Given the description of an element on the screen output the (x, y) to click on. 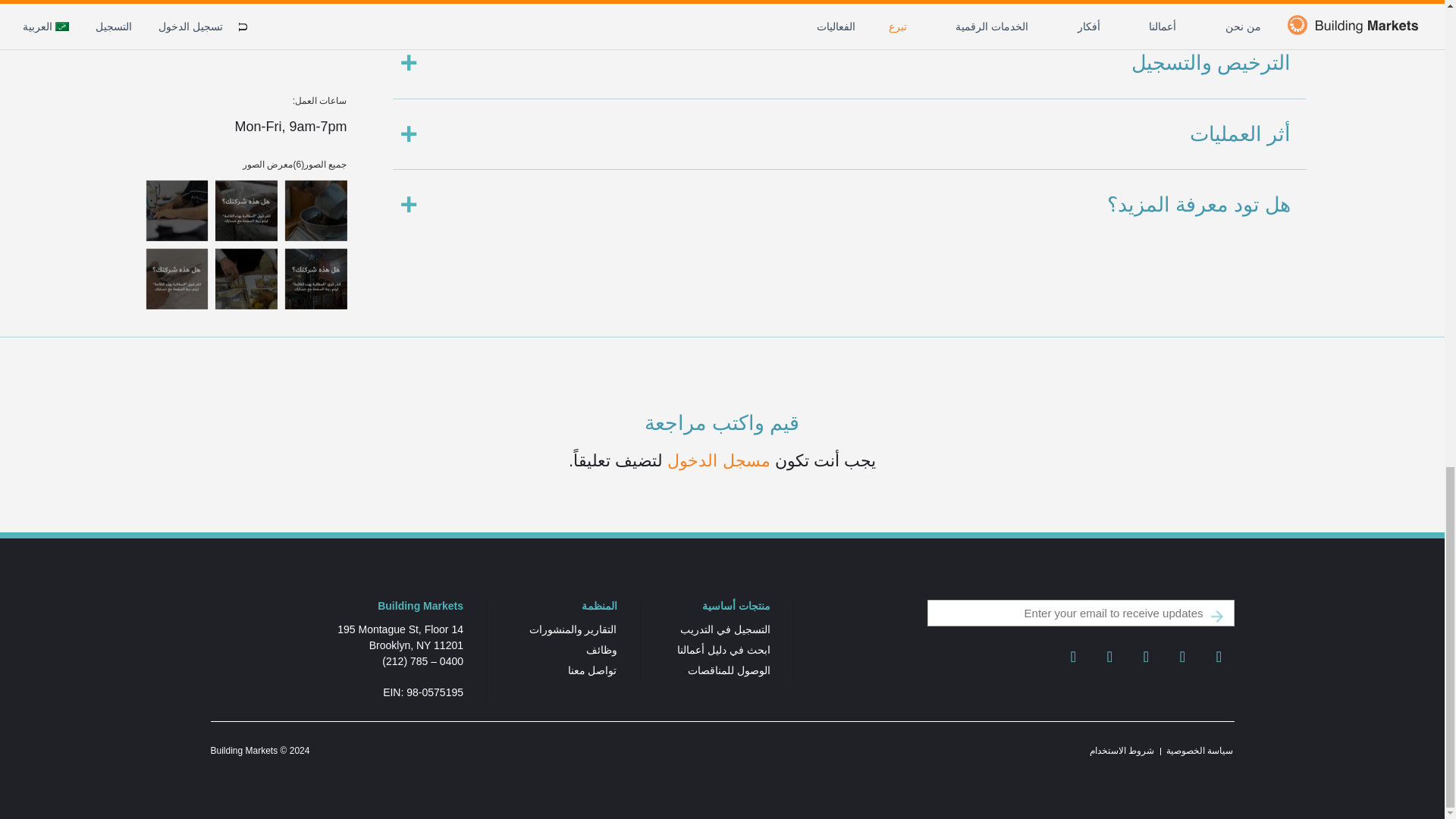
Submit (1216, 616)
